Given the description of an element on the screen output the (x, y) to click on. 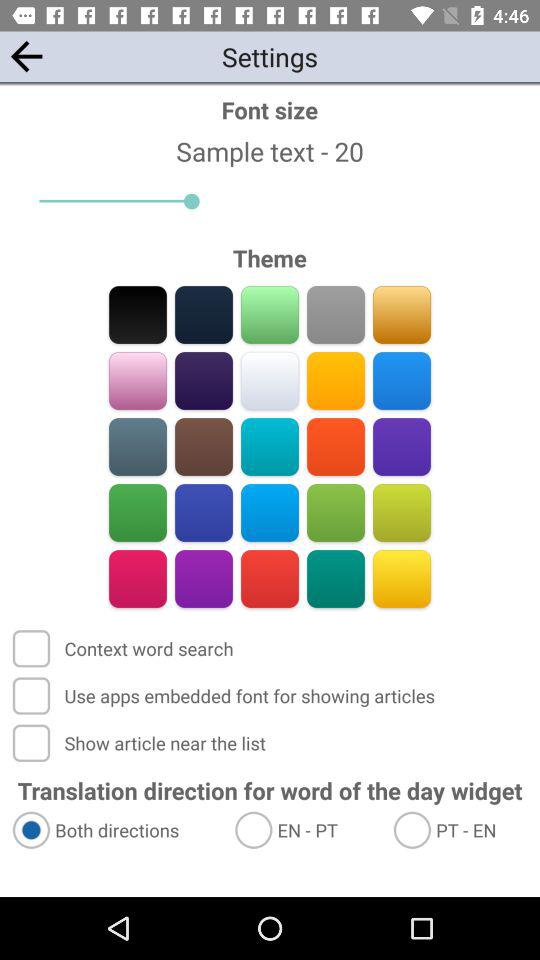
color (401, 446)
